Given the description of an element on the screen output the (x, y) to click on. 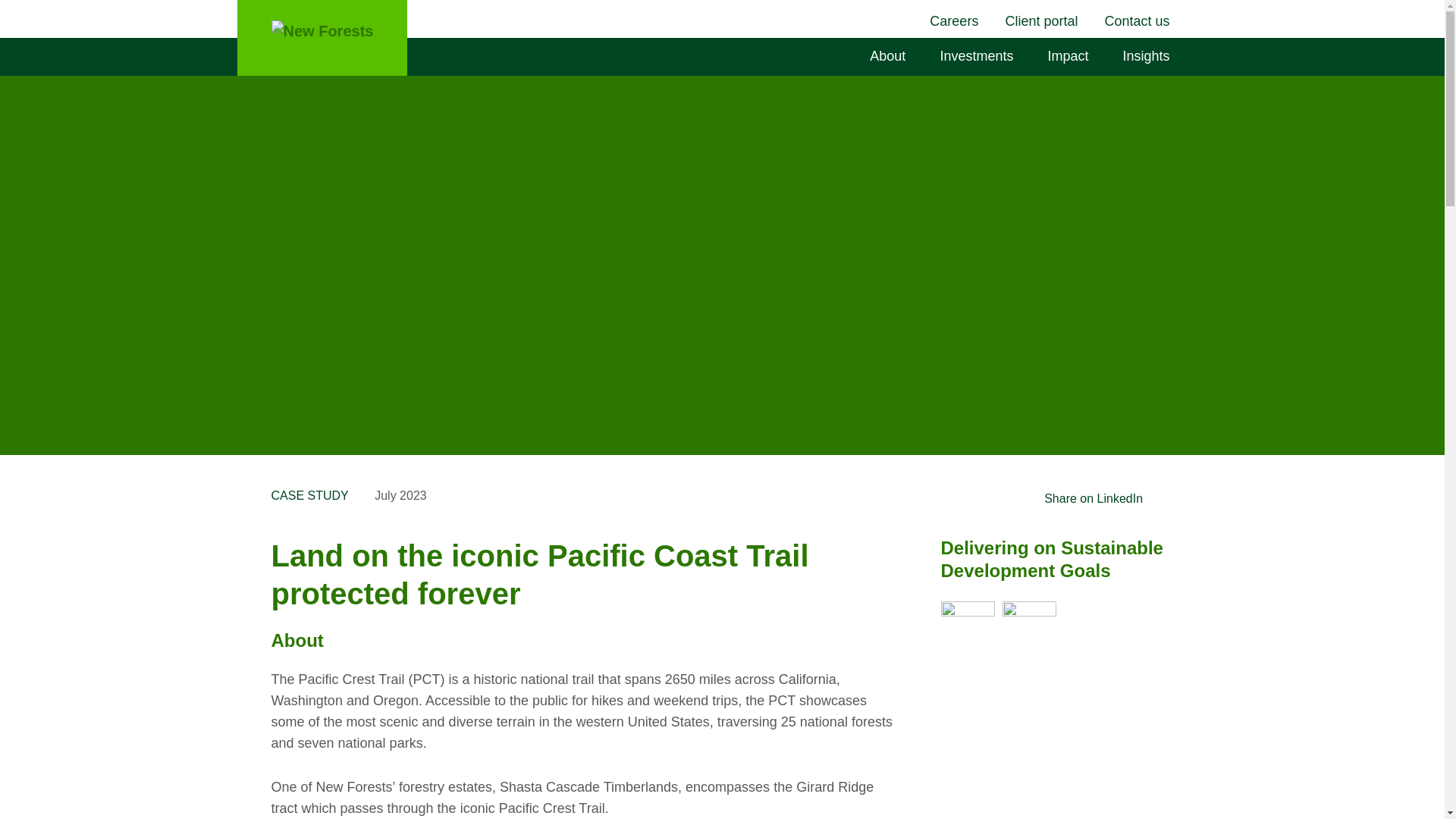
Contact us  (1138, 20)
Impact  (1069, 56)
Client portal  (1042, 20)
About  (889, 56)
Insights  (1147, 56)
Investments  (978, 56)
Share on LinkedIn (1092, 497)
Careers  (955, 20)
